Given the description of an element on the screen output the (x, y) to click on. 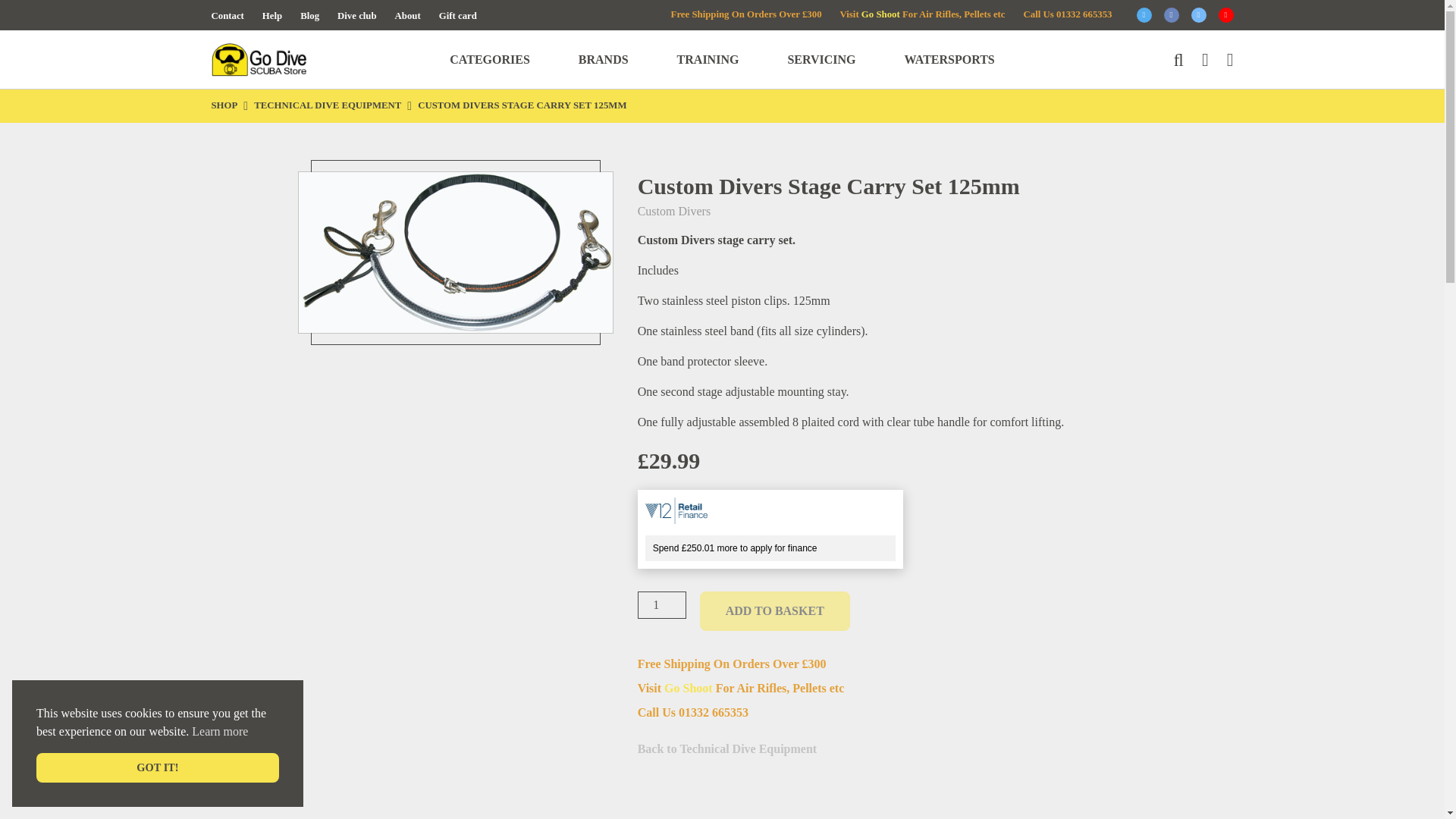
PayPal (892, 779)
Gift card (458, 15)
About (407, 15)
GOT IT! (157, 767)
Contact (227, 15)
Go Shoot (880, 14)
Qty (661, 605)
TRAINING (708, 59)
Dive club (357, 15)
1 (661, 605)
Learn more (219, 730)
BRANDS (603, 59)
Help (272, 15)
Blog (308, 15)
Custom Divers Stage Carry Set 125mm (454, 251)
